Given the description of an element on the screen output the (x, y) to click on. 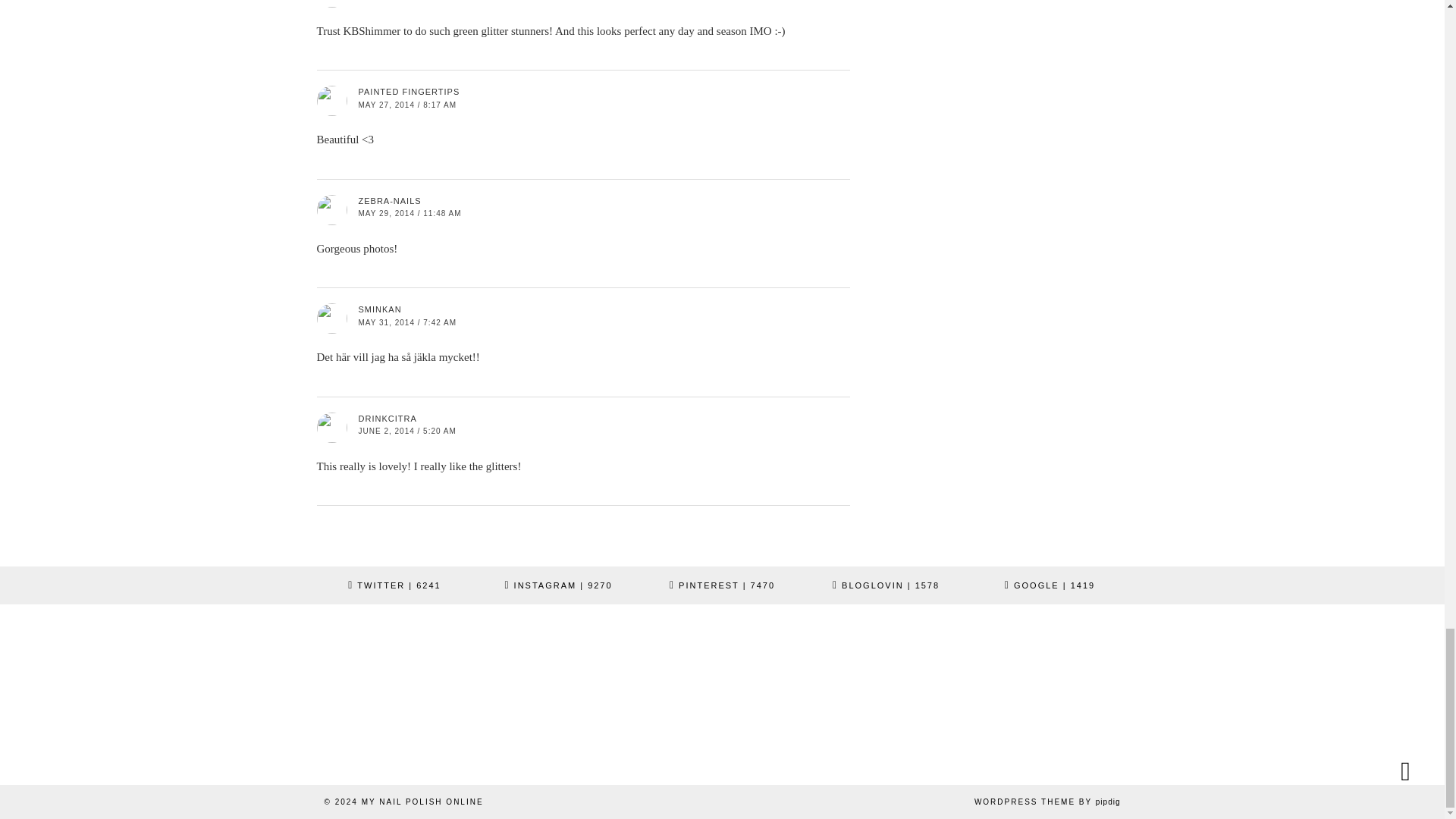
Pinterest (721, 584)
Bloglovin (885, 584)
Twitter (394, 584)
Instagram (557, 584)
